Given the description of an element on the screen output the (x, y) to click on. 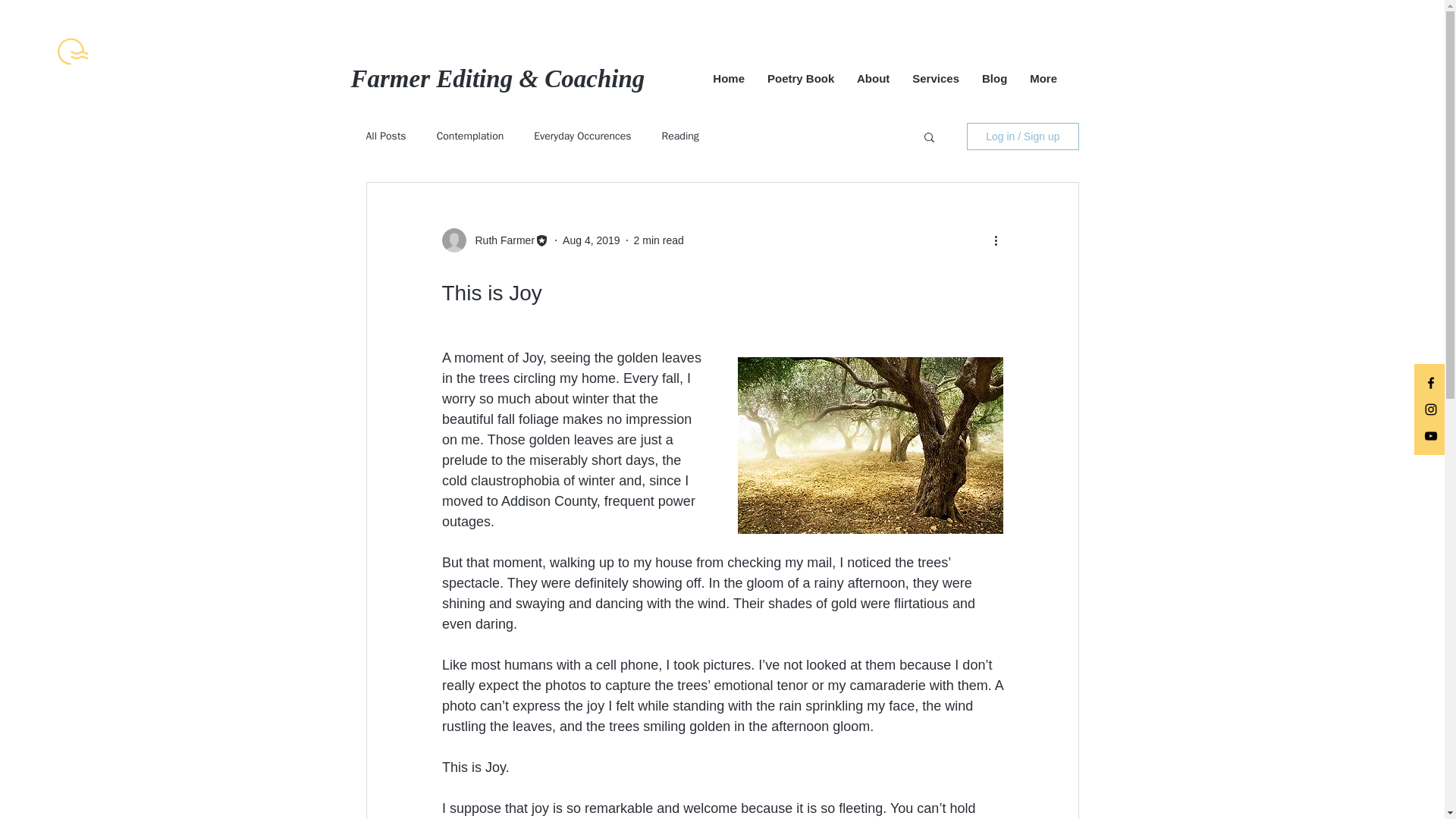
Reading (680, 136)
About (873, 78)
All Posts (385, 136)
Poetry Book (800, 78)
2 min read (658, 239)
Contemplation (469, 136)
Aug 4, 2019 (591, 239)
Home (728, 78)
Everyday Occurences (582, 136)
Ruth Farmer (499, 239)
